Given the description of an element on the screen output the (x, y) to click on. 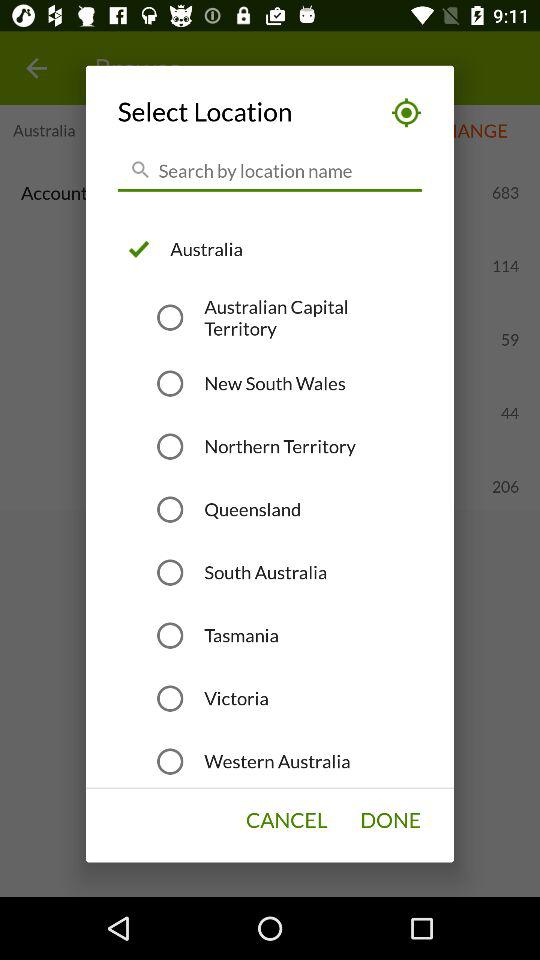
launch the item above western australia (236, 698)
